Given the description of an element on the screen output the (x, y) to click on. 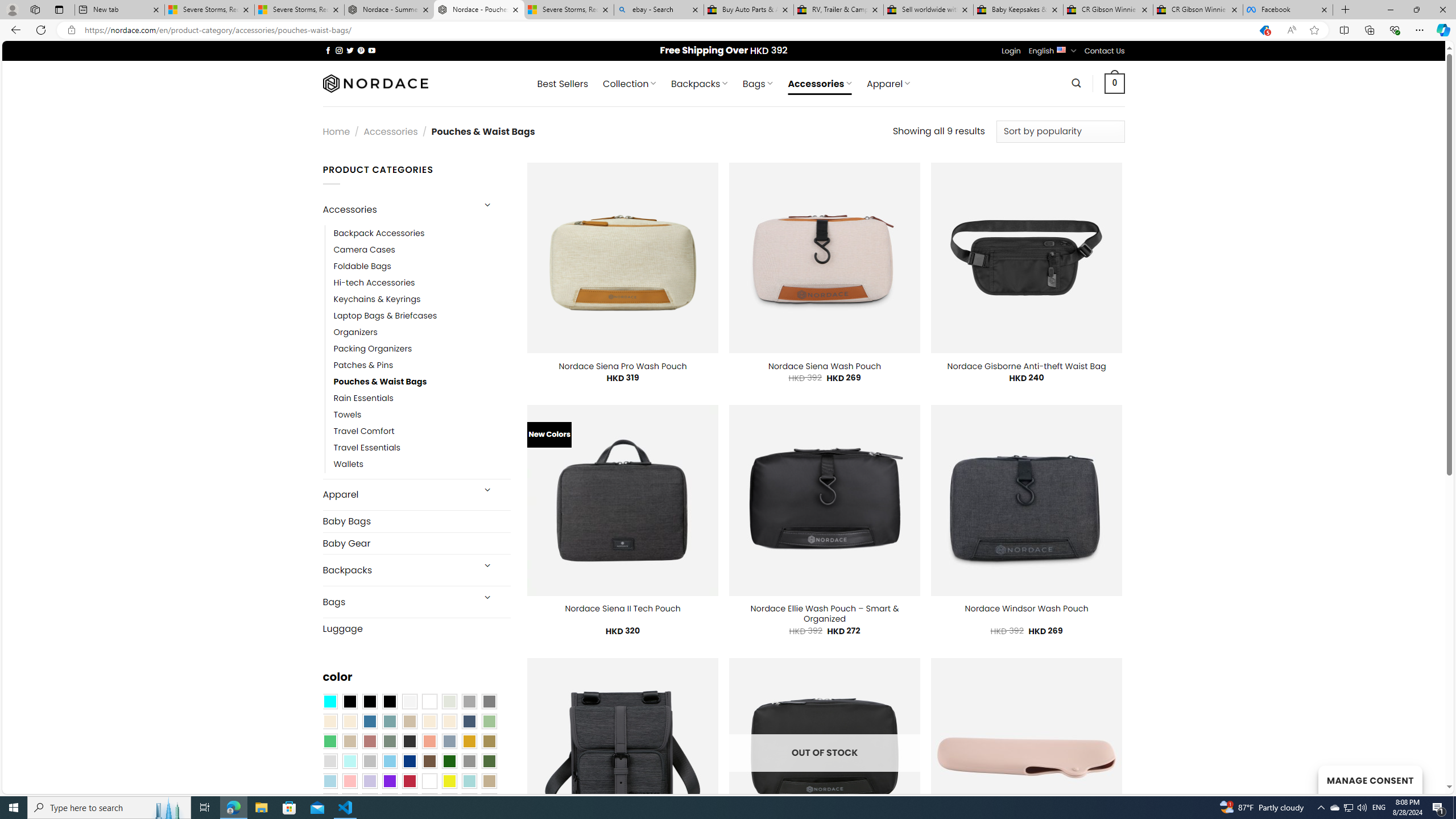
Buy Auto Parts & Accessories | eBay (747, 9)
Charcoal (408, 741)
Wallets (422, 464)
Pouches & Waist Bags (379, 381)
Pink (349, 780)
Ash Gray (449, 701)
Navy Blue (408, 761)
Dusty Blue (449, 741)
Light Green (488, 721)
Gray (468, 761)
